Given the description of an element on the screen output the (x, y) to click on. 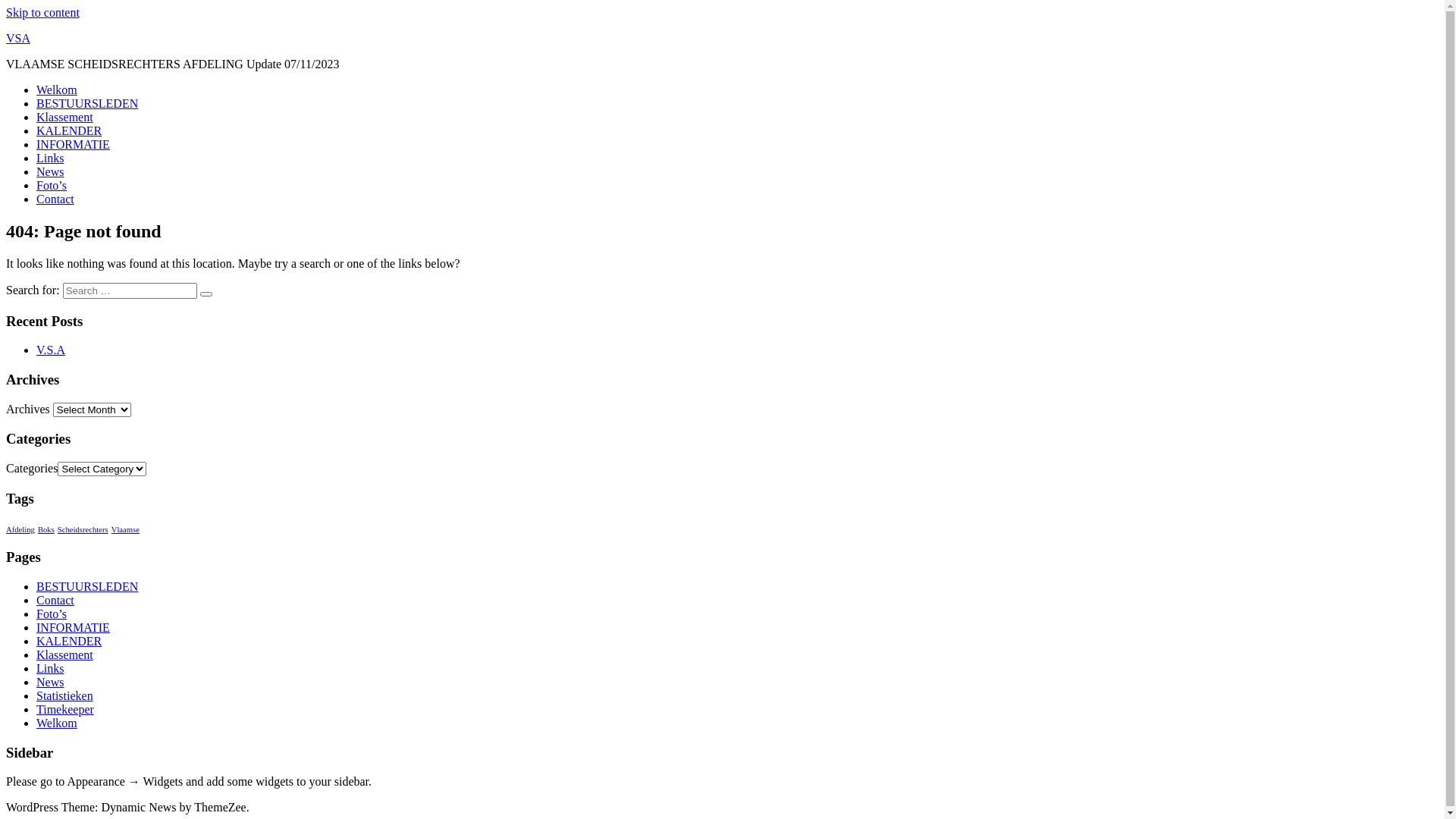
V.S.A Element type: text (50, 349)
KALENDER Element type: text (68, 640)
KALENDER Element type: text (68, 130)
VSA Element type: text (18, 37)
Boks Element type: text (45, 529)
Skip to content Element type: text (42, 12)
Welkom Element type: text (56, 89)
Links Element type: text (49, 668)
Contact Element type: text (55, 599)
Welkom Element type: text (56, 722)
Timekeeper Element type: text (65, 708)
Klassement Element type: text (64, 116)
Scheidsrechters Element type: text (82, 529)
Klassement Element type: text (64, 654)
INFORMATIE Element type: text (72, 144)
BESTUURSLEDEN Element type: text (87, 103)
News Element type: text (49, 681)
Contact Element type: text (55, 198)
BESTUURSLEDEN Element type: text (87, 586)
Afdeling Element type: text (20, 529)
Statistieken Element type: text (64, 695)
INFORMATIE Element type: text (72, 627)
News Element type: text (49, 171)
Links Element type: text (49, 157)
Vlaamse Element type: text (125, 529)
